Given the description of an element on the screen output the (x, y) to click on. 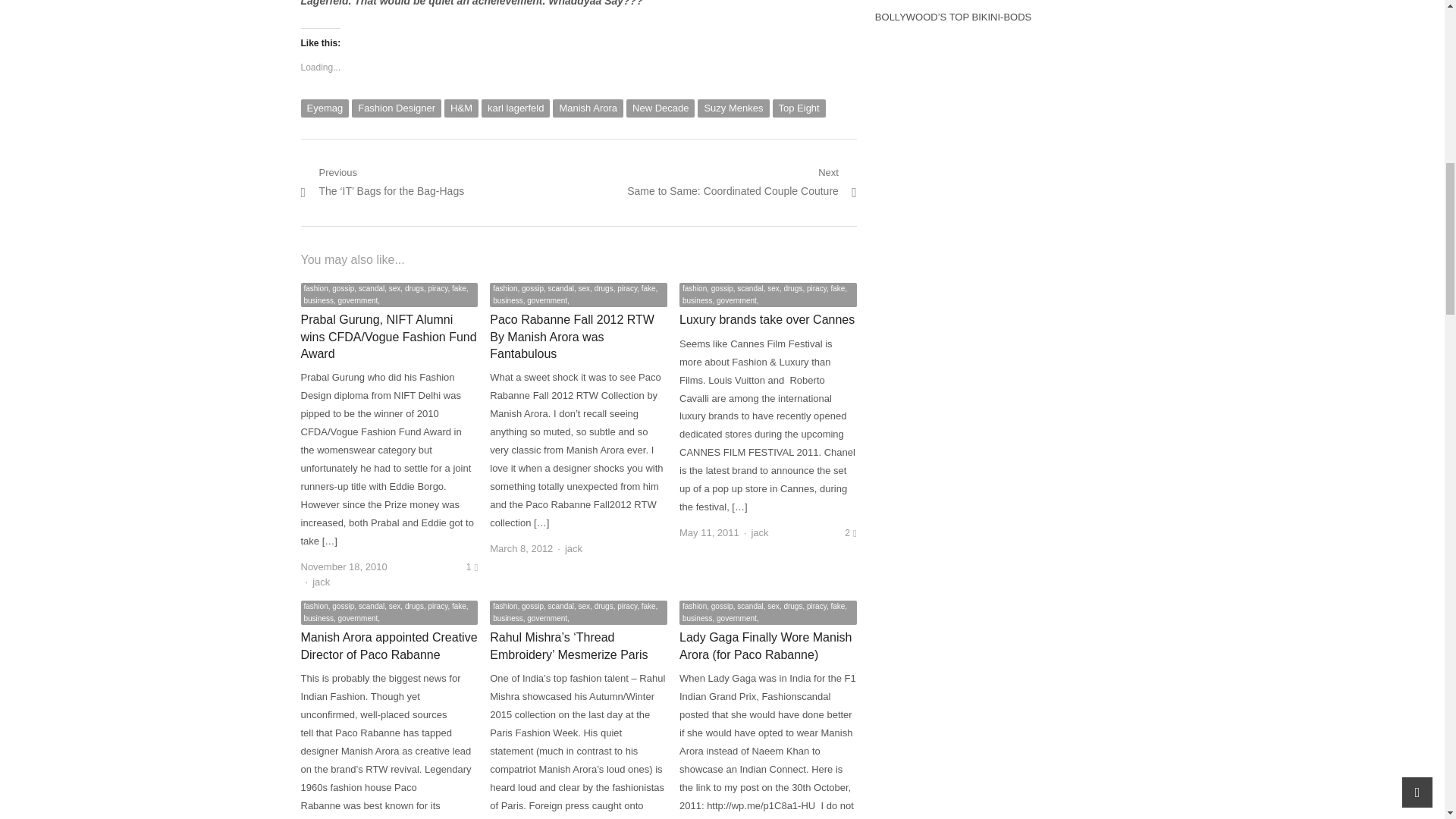
Fashion Designer (396, 108)
Paco Rabanne Fall 2012 RTW By Manish Arora was Fantabulous (571, 336)
Manish Arora appointed Creative Director of Paco Rabanne (388, 645)
Comment on Luxury brands take over Cannes (850, 532)
Top Eight (798, 108)
Manish Arora (588, 108)
Manish Arora appointed Creative Director of Paco Rabanne (388, 645)
Eyemag (324, 108)
2 (850, 532)
